Given the description of an element on the screen output the (x, y) to click on. 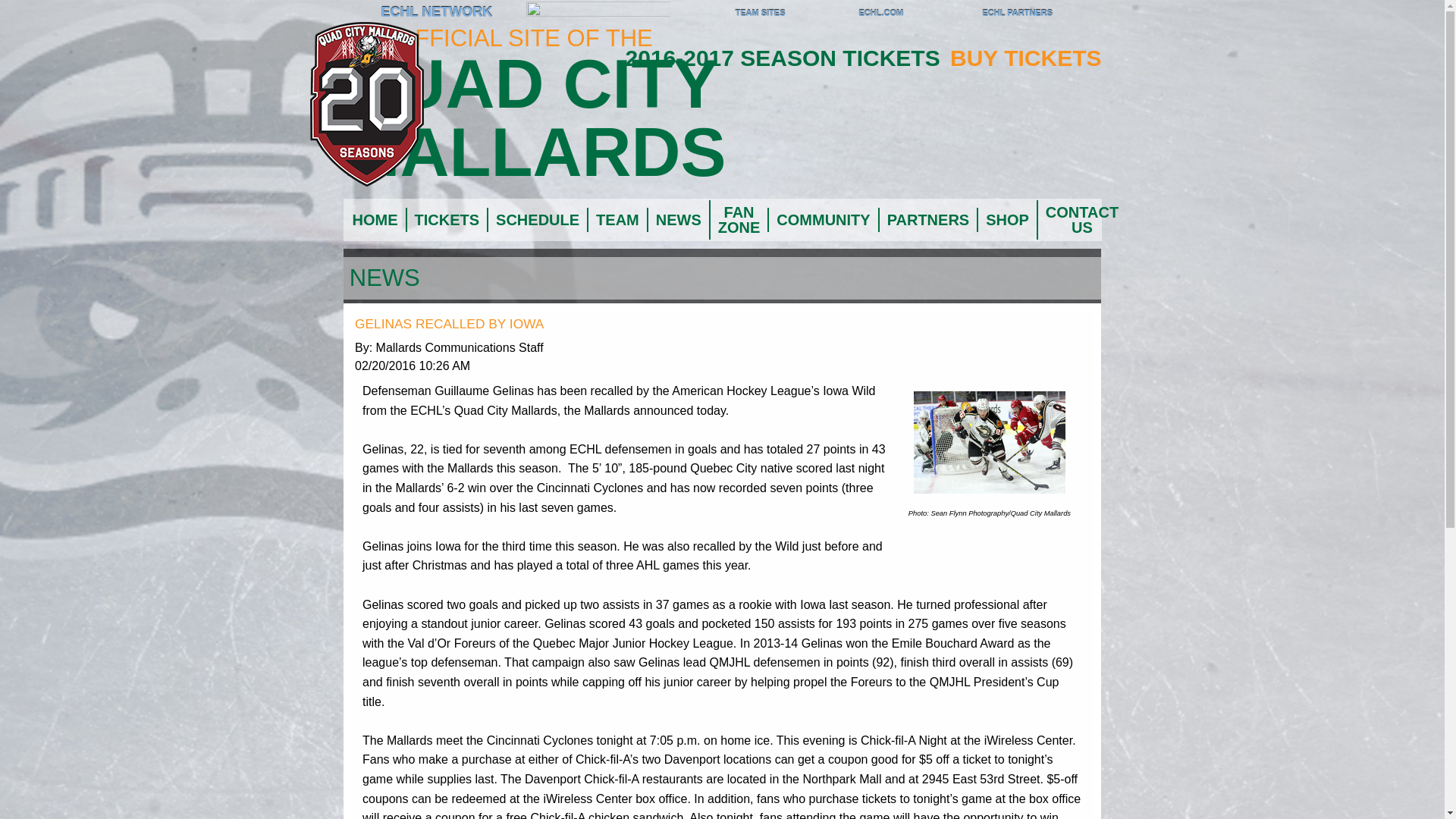
BUY TICKETS (1025, 57)
FAN ZONE (738, 219)
ECHL (362, 14)
Visit the Official ECHL website (362, 14)
TEAM (616, 219)
HOME (373, 219)
2016-2017 SEASON TICKETS (786, 57)
NEWS (677, 219)
TICKETS (445, 219)
SCHEDULE (536, 219)
